Given the description of an element on the screen output the (x, y) to click on. 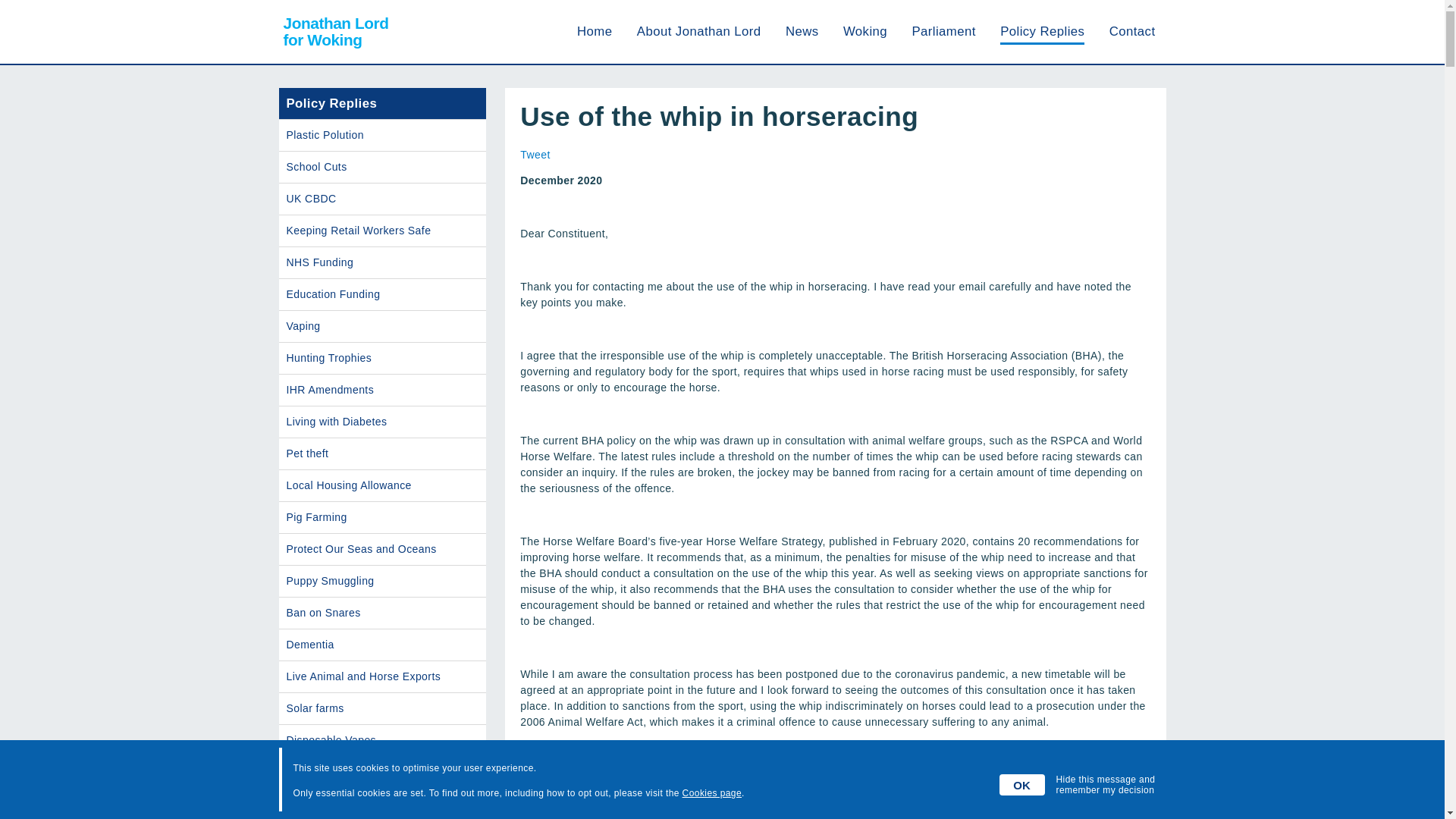
IHR Amendments (382, 389)
UK CBDC (382, 198)
Dementia (382, 644)
Vaping (333, 31)
Education Funding (382, 326)
NHS Funding (382, 294)
Keeping Retail Workers Safe (382, 262)
Living with Diabetes (382, 230)
Contact (382, 421)
School Cuts (1132, 31)
Tweet (382, 166)
Skip to main content (534, 154)
News (943, 31)
